Given the description of an element on the screen output the (x, y) to click on. 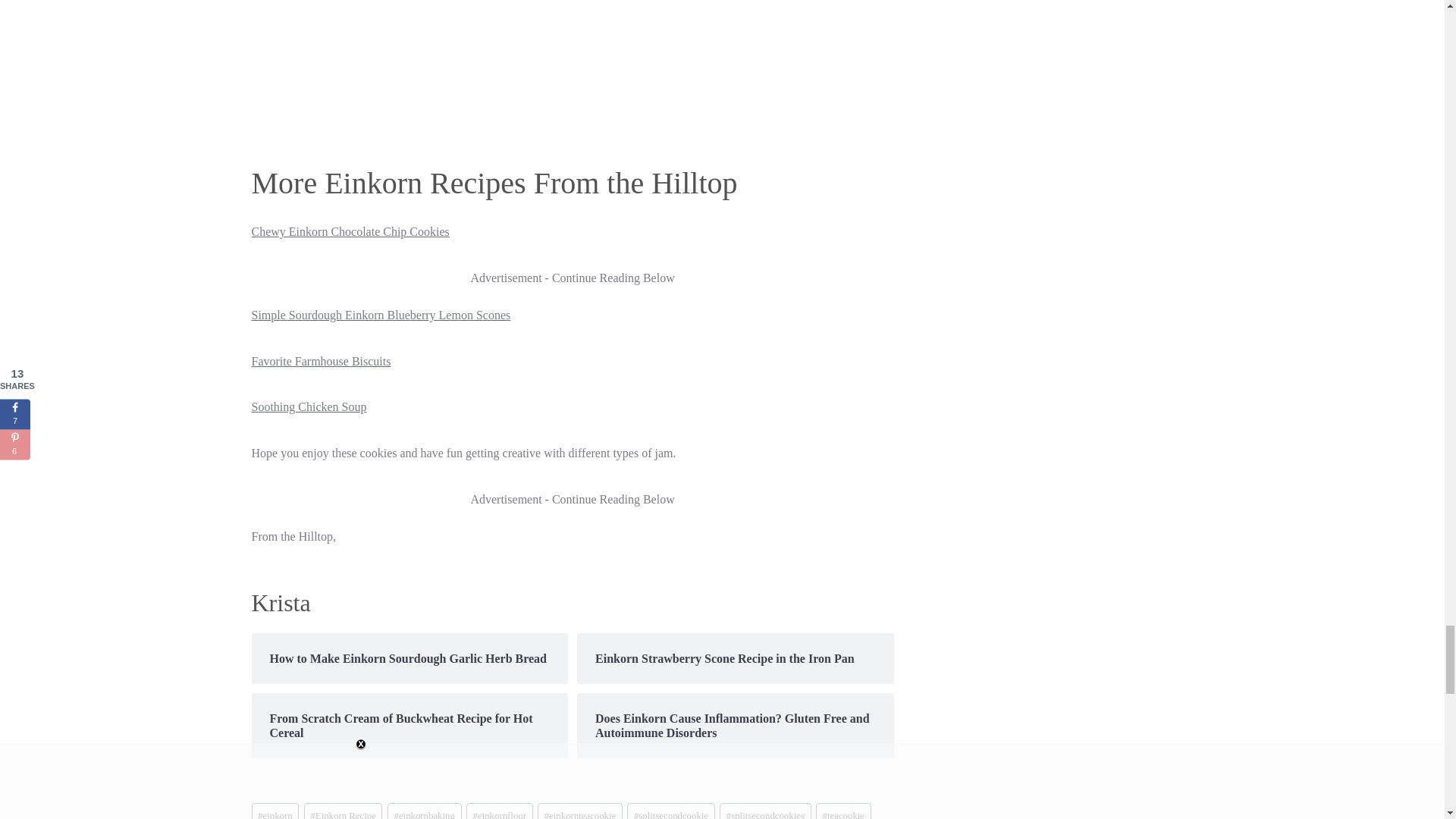
Chewy Einkorn Chocolate Chip Cookies (350, 231)
einkornflour (498, 811)
splitsecondcookies (764, 811)
splitsecondcookie (670, 811)
einkorn (275, 811)
einkornteacookie (580, 811)
Favorite Farmhouse Biscuits (321, 360)
Einkorn Recipe (343, 811)
teacookie (842, 811)
Simple Sourdough Einkorn Blueberry Lemon Scones (381, 314)
einkornbaking (424, 811)
